Given the description of an element on the screen output the (x, y) to click on. 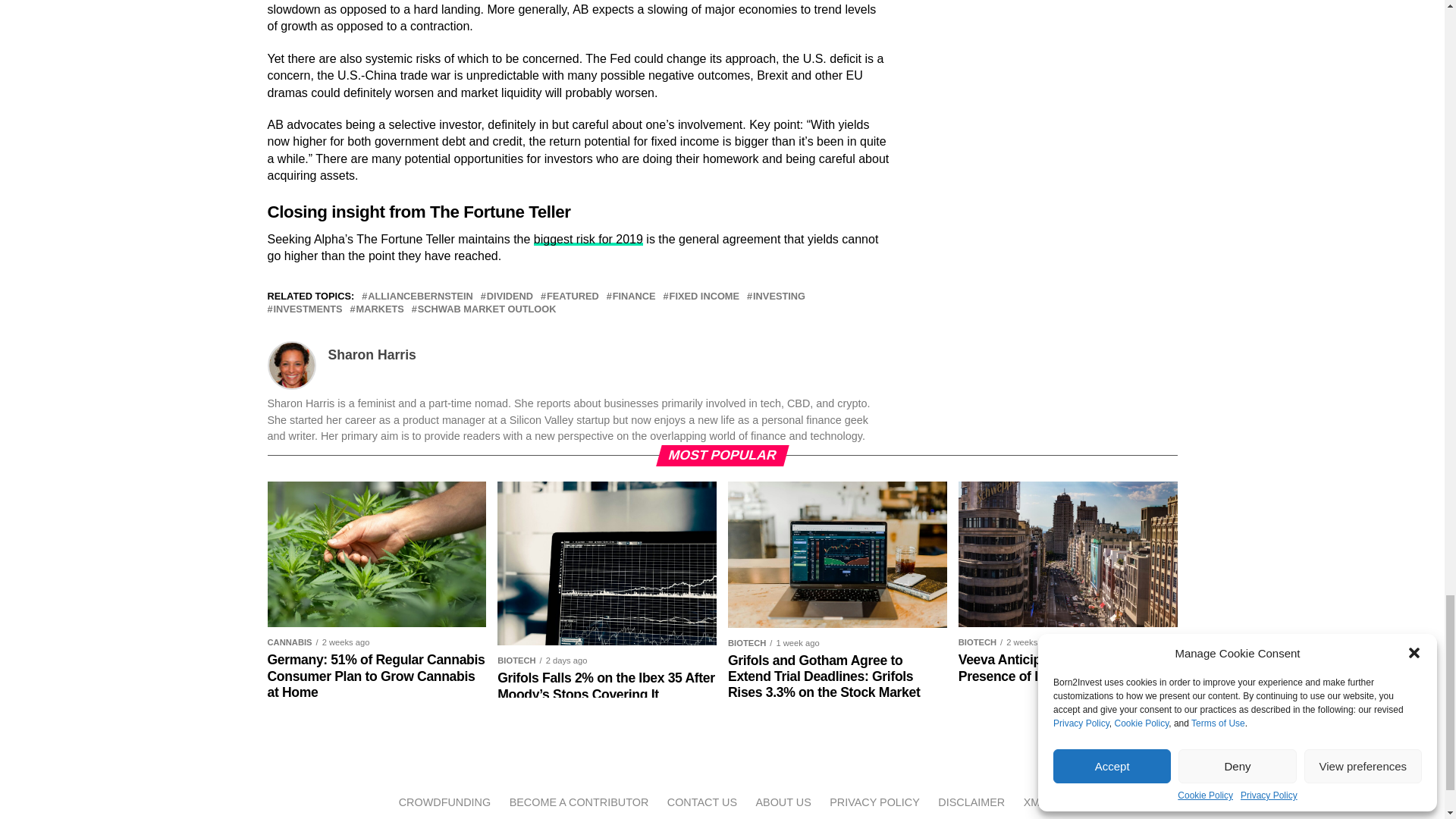
Posts by Sharon Harris (370, 354)
